Given the description of an element on the screen output the (x, y) to click on. 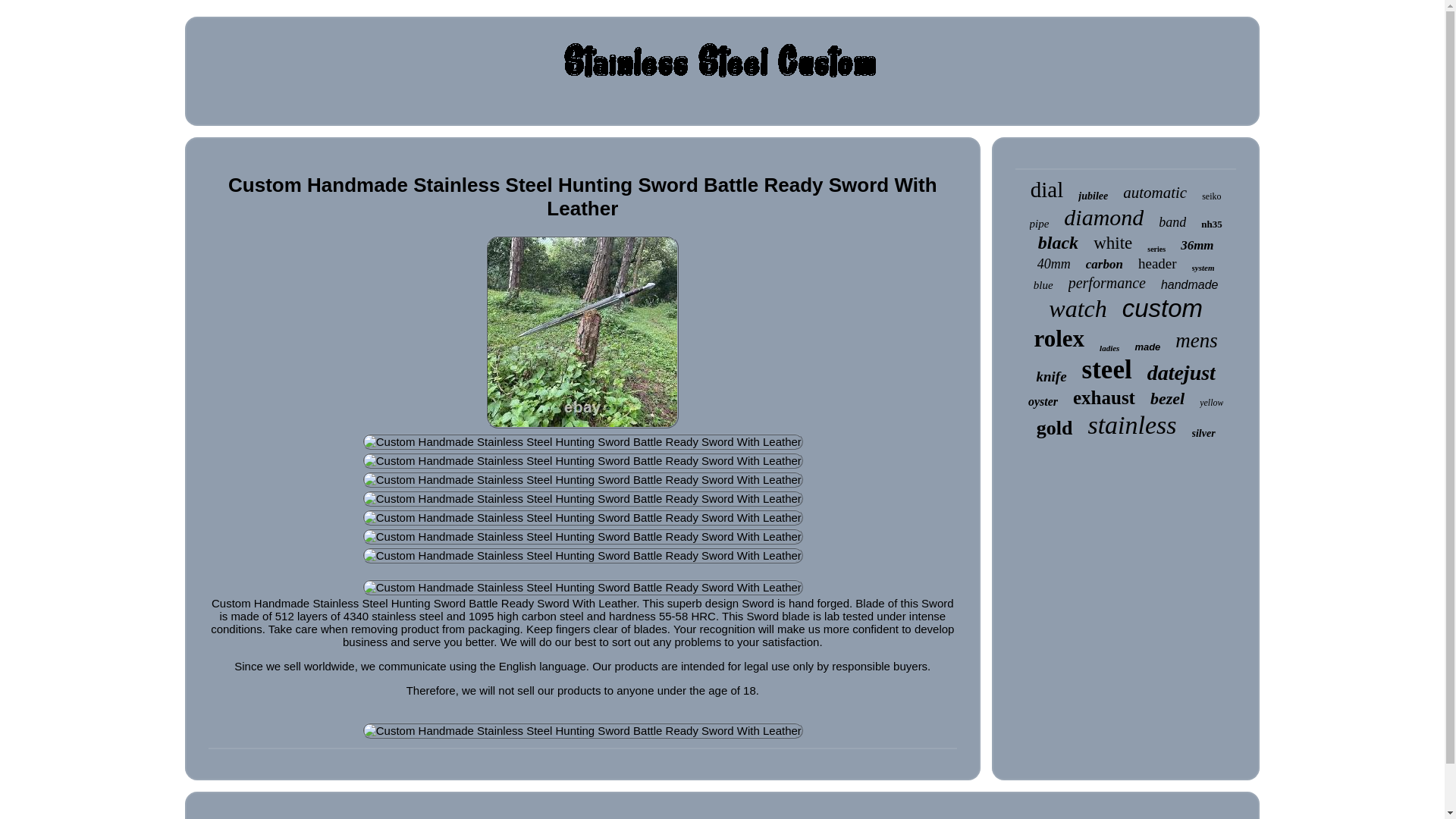
nh35 (1211, 224)
ladies (1109, 347)
performance (1106, 282)
knife (1050, 376)
custom (1162, 308)
datejust (1181, 372)
header (1157, 263)
black (1058, 242)
series (1156, 248)
blue (1042, 285)
